Given the description of an element on the screen output the (x, y) to click on. 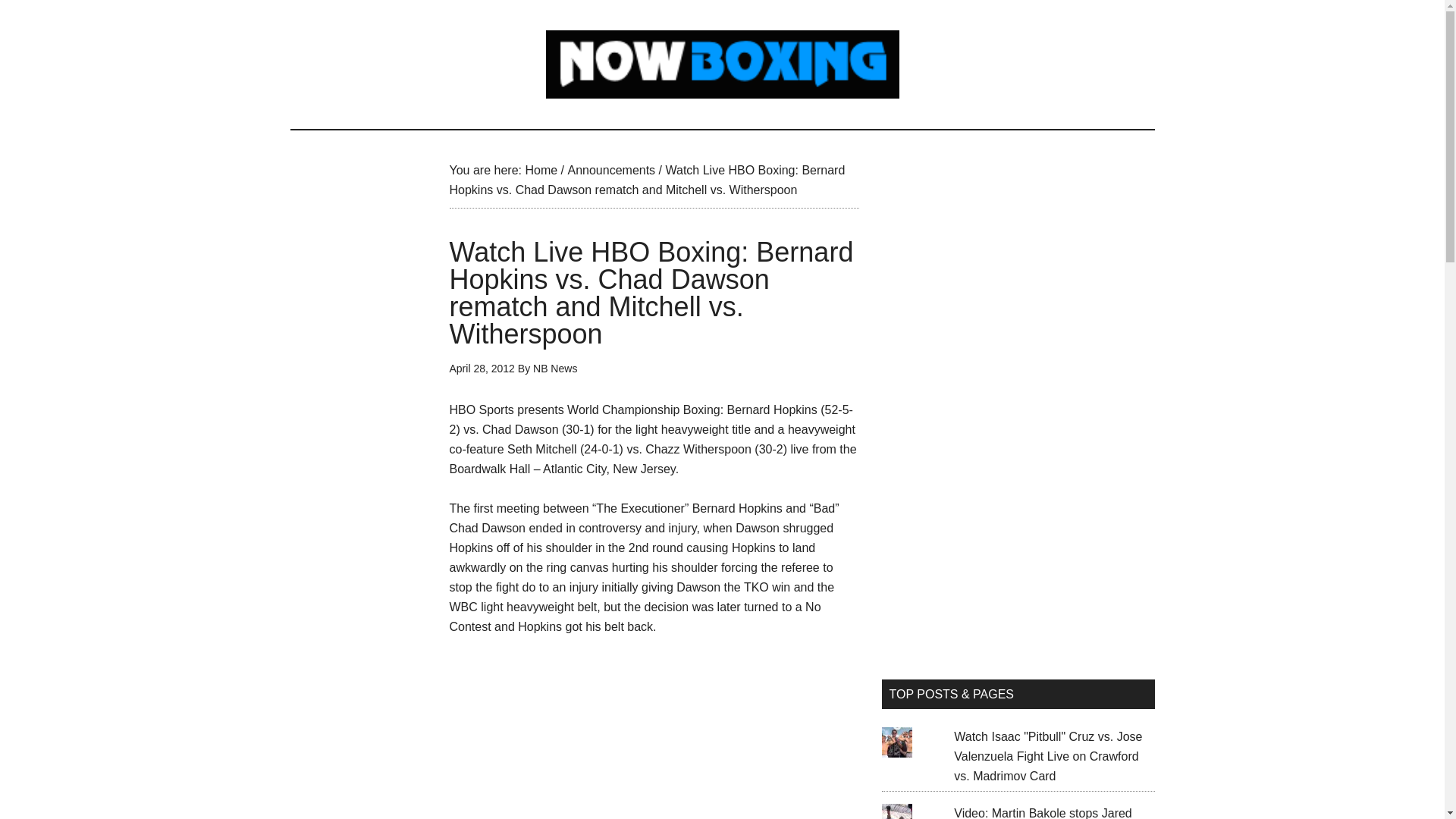
Home (540, 169)
Announcements (611, 169)
NB News (554, 368)
Now Boxing (721, 64)
